Given the description of an element on the screen output the (x, y) to click on. 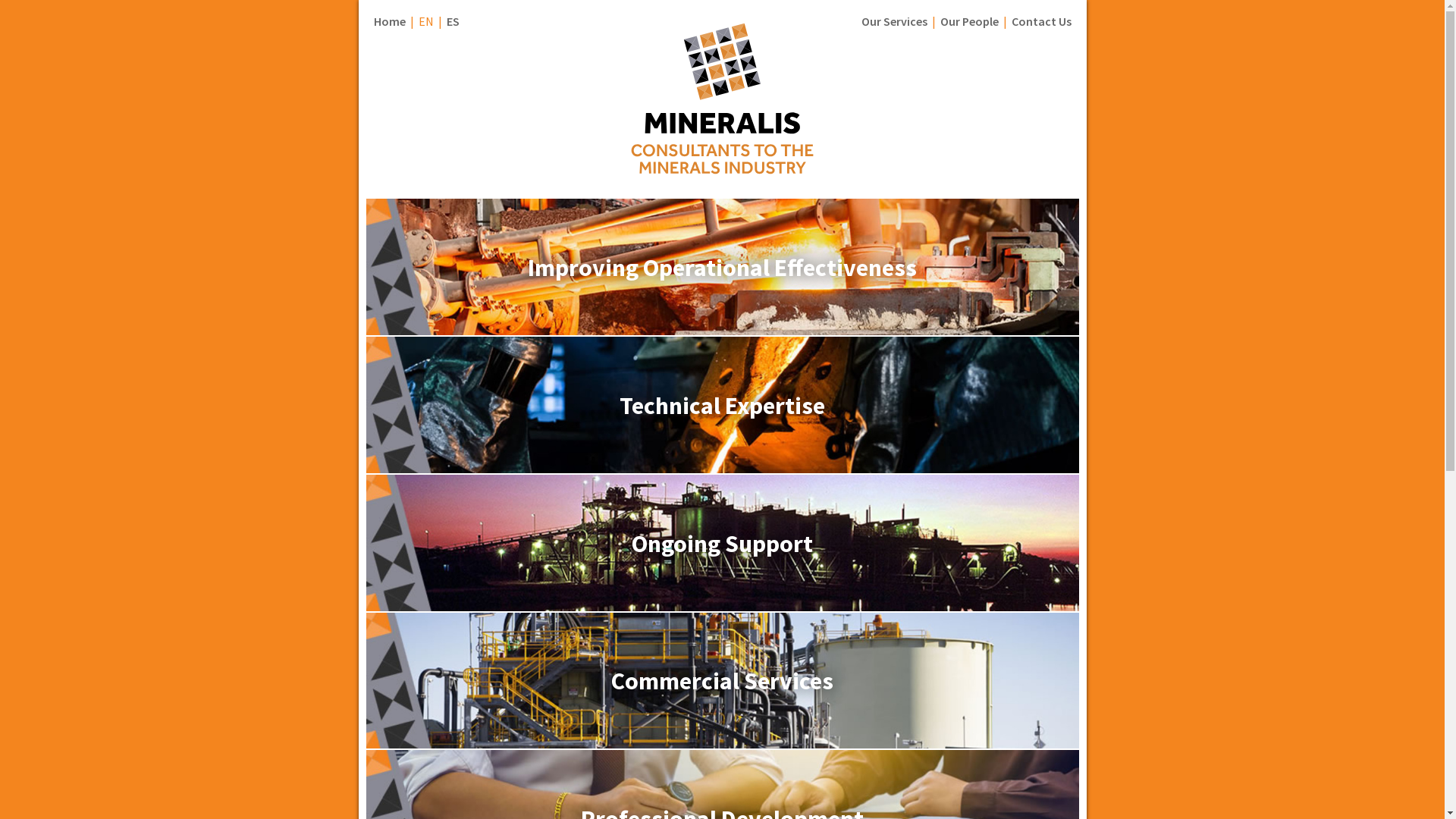
Our People Element type: text (969, 20)
Technical Expertise Element type: text (721, 468)
Our Services Element type: text (894, 20)
Commercial Services Element type: text (721, 743)
Improving Operational Effectiveness Element type: text (721, 330)
Home Element type: text (388, 20)
ES Element type: text (451, 20)
Ongoing Support Element type: text (721, 606)
Contact Us Element type: text (1041, 20)
